Given the description of an element on the screen output the (x, y) to click on. 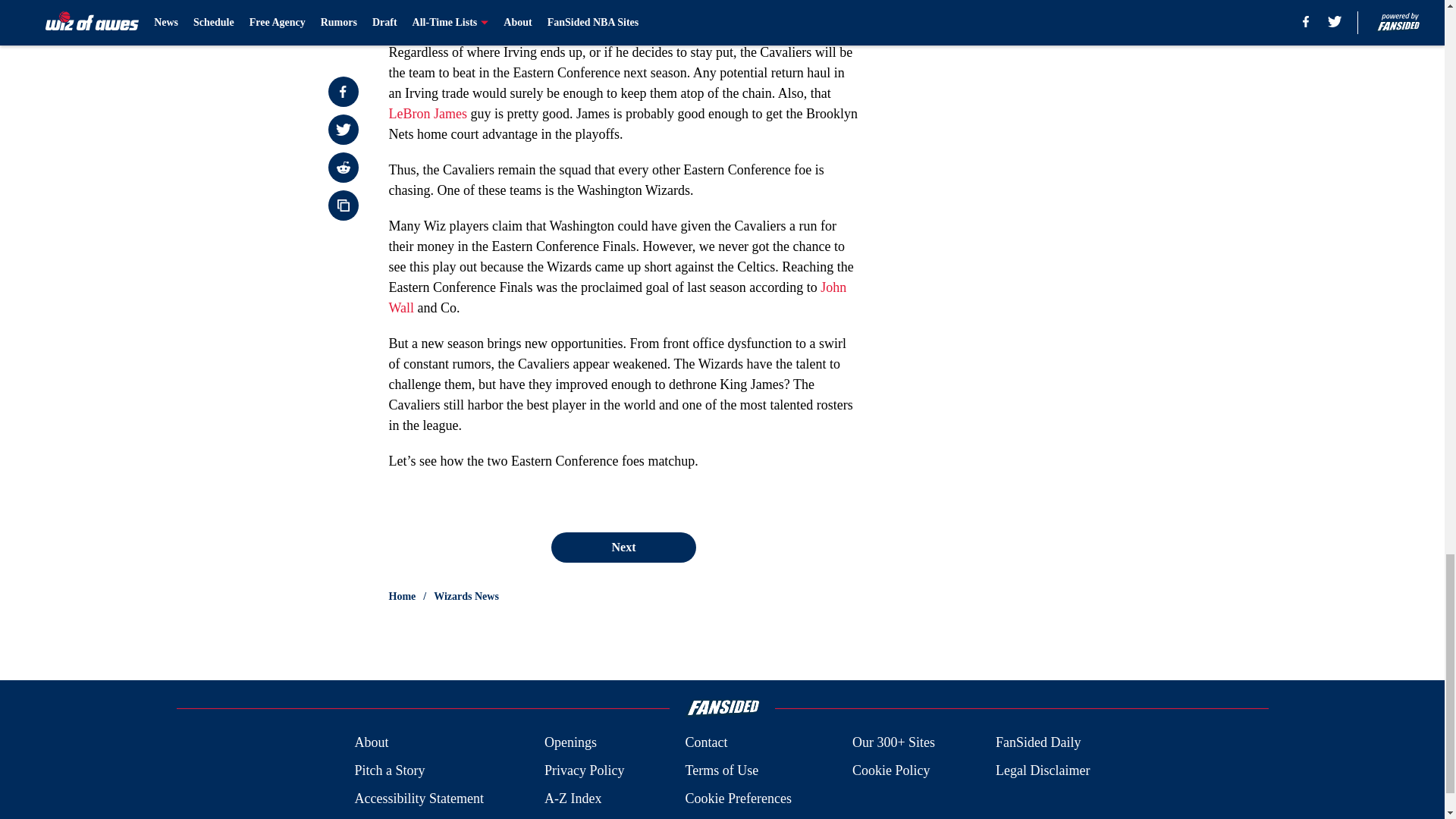
John Wall (616, 297)
Wizards News (466, 596)
Next (622, 547)
LeBron James (426, 113)
Home (401, 596)
About (370, 742)
